Given the description of an element on the screen output the (x, y) to click on. 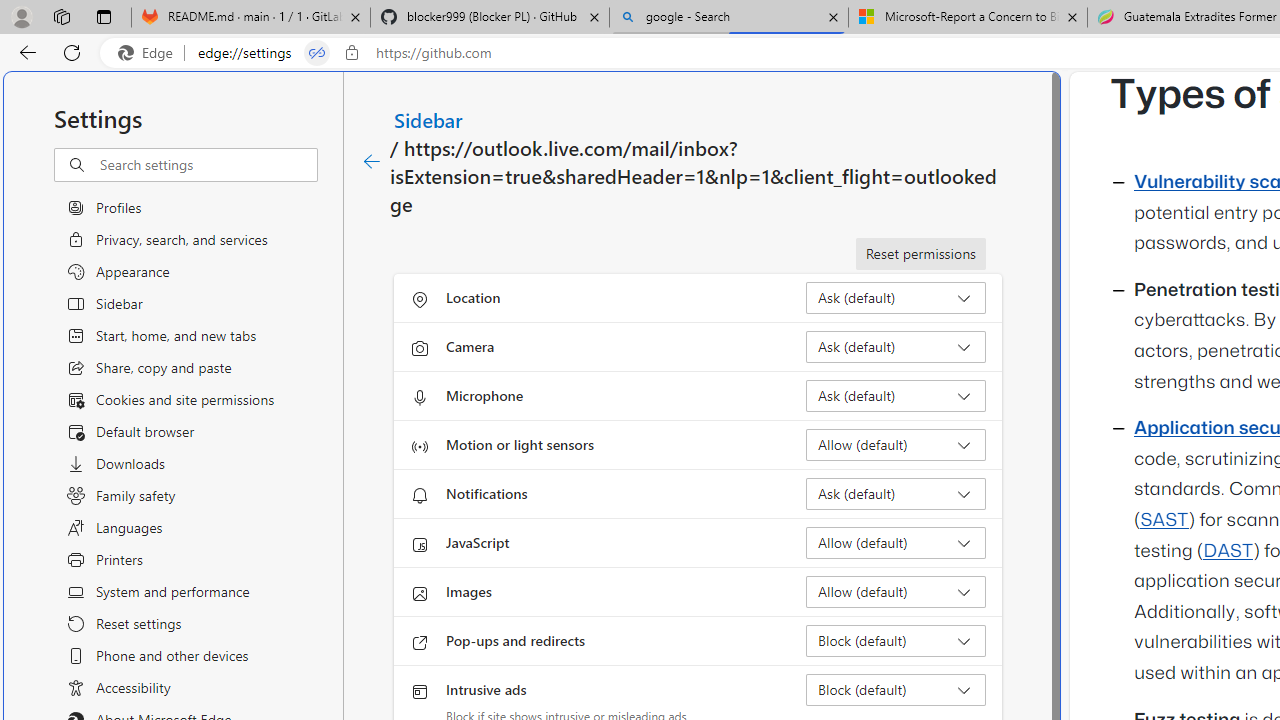
Tabs in split screen (317, 53)
JavaScript Allow (default) (895, 542)
Edge (150, 53)
Notifications Ask (default) (895, 493)
Search settings (207, 165)
Pop-ups and redirects Block (default) (895, 640)
Motion or light sensors Allow (default) (895, 444)
Reset permissions (920, 254)
DAST (1228, 551)
Go back to Sidebar page. (372, 162)
Camera Ask (default) (895, 346)
